Given the description of an element on the screen output the (x, y) to click on. 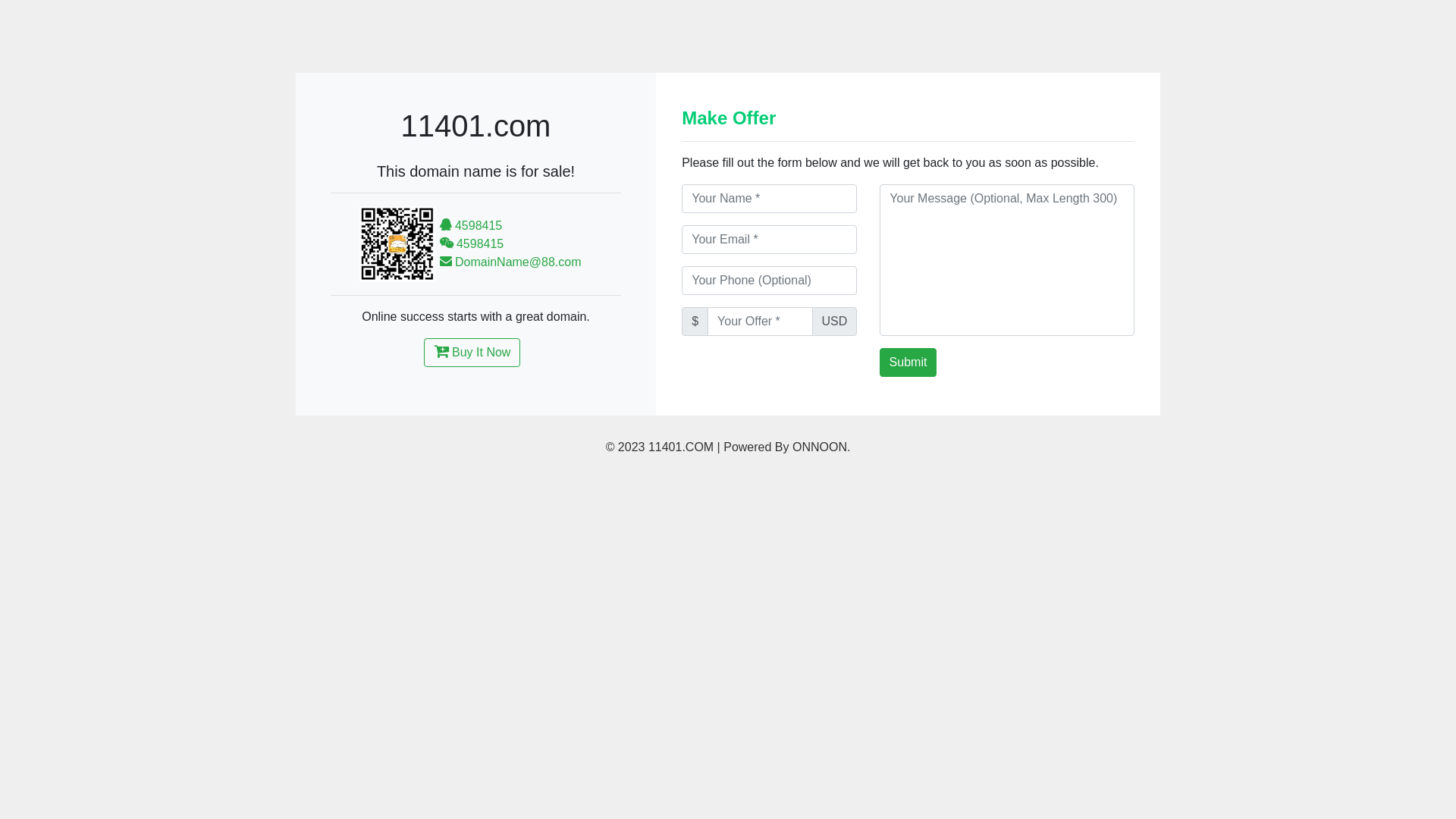
4598415 Element type: text (471, 243)
4598415 Element type: text (470, 225)
Buy It Now Element type: text (471, 352)
Powered By ONNOON. Element type: text (786, 446)
Submit Element type: text (908, 362)
DomainName@88.com Element type: text (510, 261)
